Given the description of an element on the screen output the (x, y) to click on. 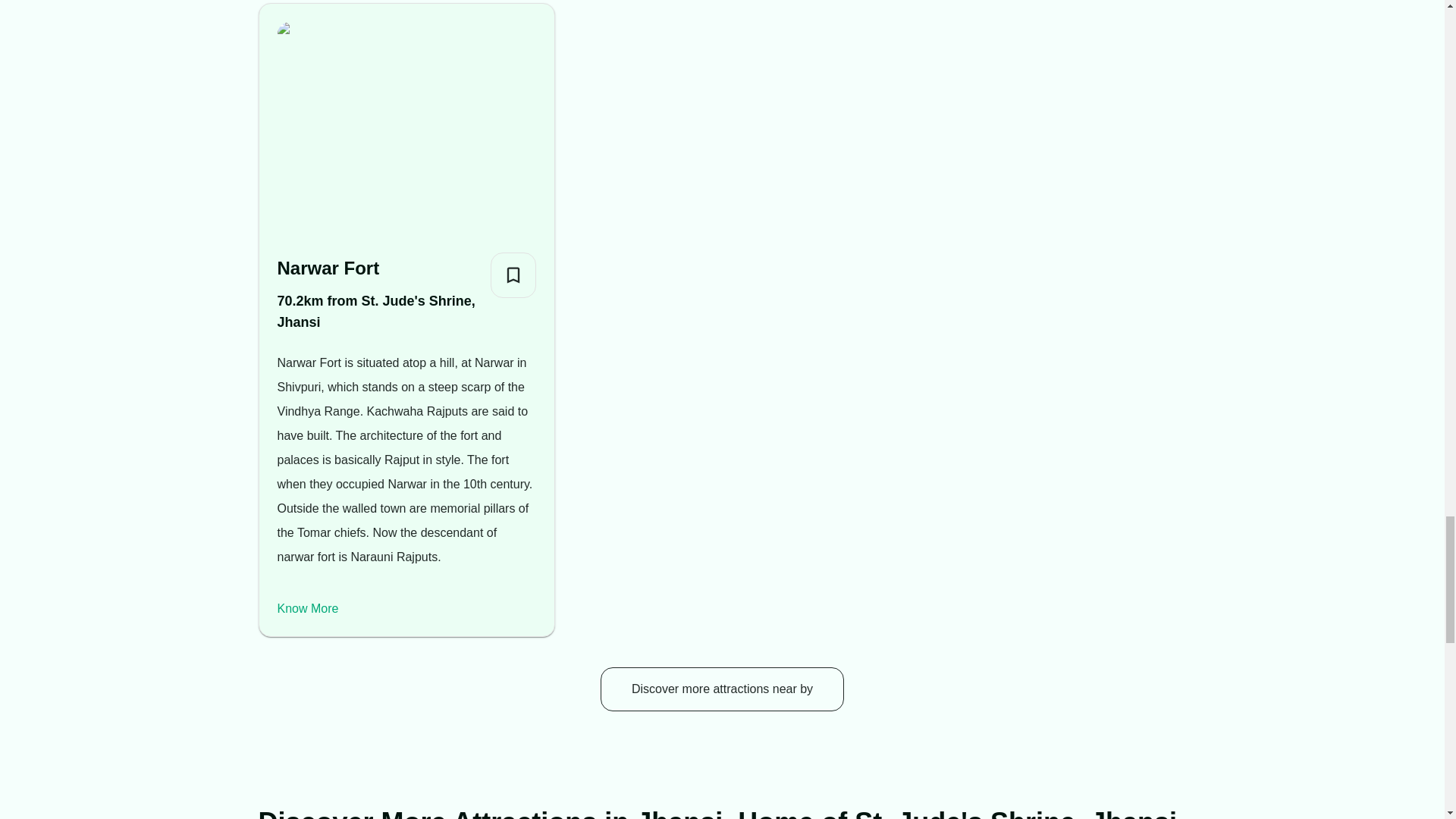
Add to Bucket List (512, 275)
